Given the description of an element on the screen output the (x, y) to click on. 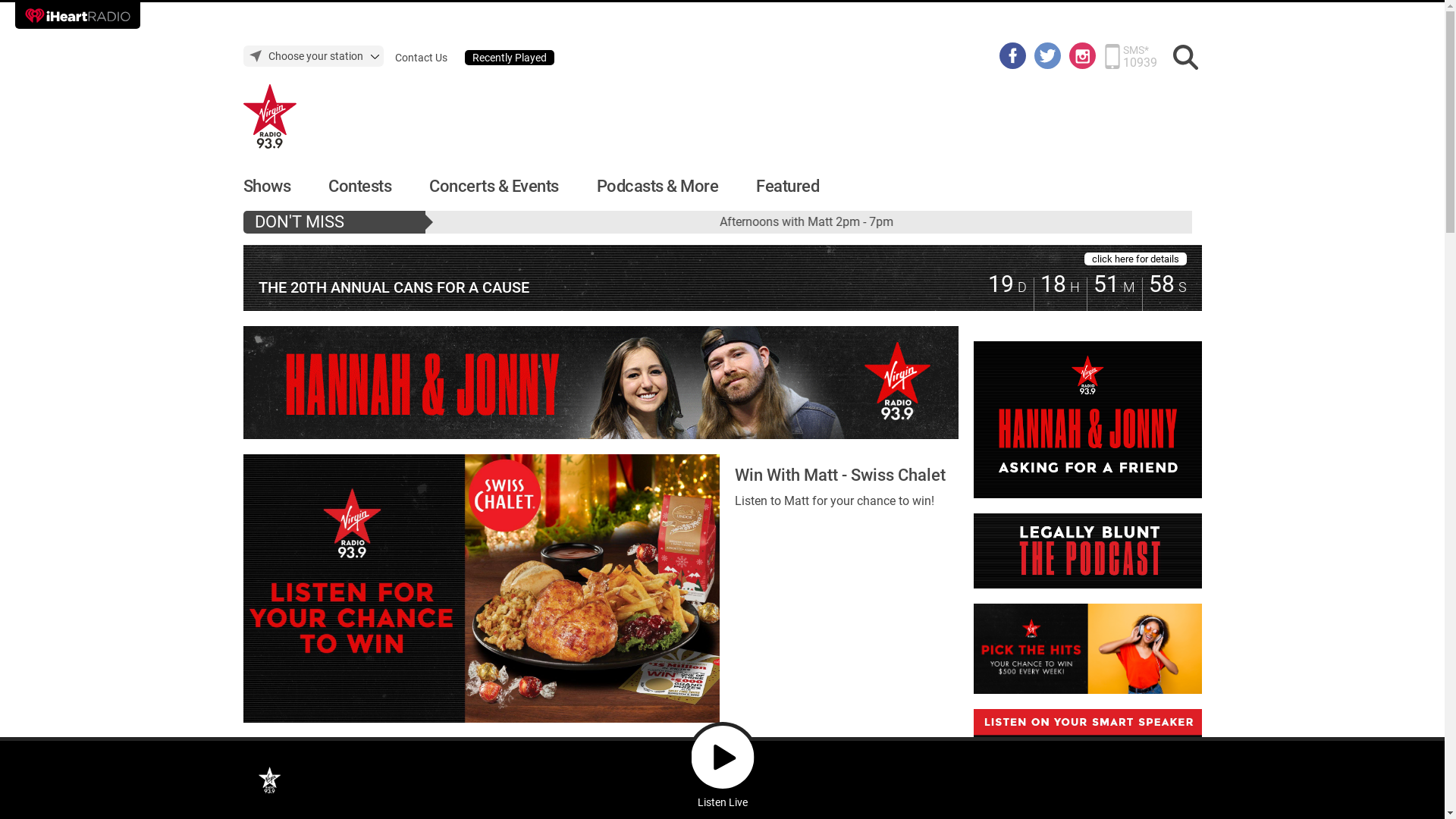
Podcasts & More Element type: text (657, 186)
Choose your station Element type: text (312, 55)
Virgin Radio Windsor Element type: hover (269, 779)
Concerts & Events Element type: text (493, 186)
Contact Us Element type: text (420, 57)
Facebook Element type: text (1012, 54)
10939 Element type: text (1139, 62)
Instagram Element type: text (1082, 54)
  Element type: text (721, 277)
Win With Matt - Swiss Chalet Element type: text (839, 474)
Play Element type: text (721, 756)
click here for details Element type: text (1135, 258)
Contests Element type: text (359, 186)
Recently Played Element type: text (508, 57)
Shows Element type: text (266, 186)
Twitter Element type: text (1047, 54)
Featured Element type: text (787, 186)
Search... Element type: hover (1185, 56)
iHeartRadio Element type: text (77, 15)
